Given the description of an element on the screen output the (x, y) to click on. 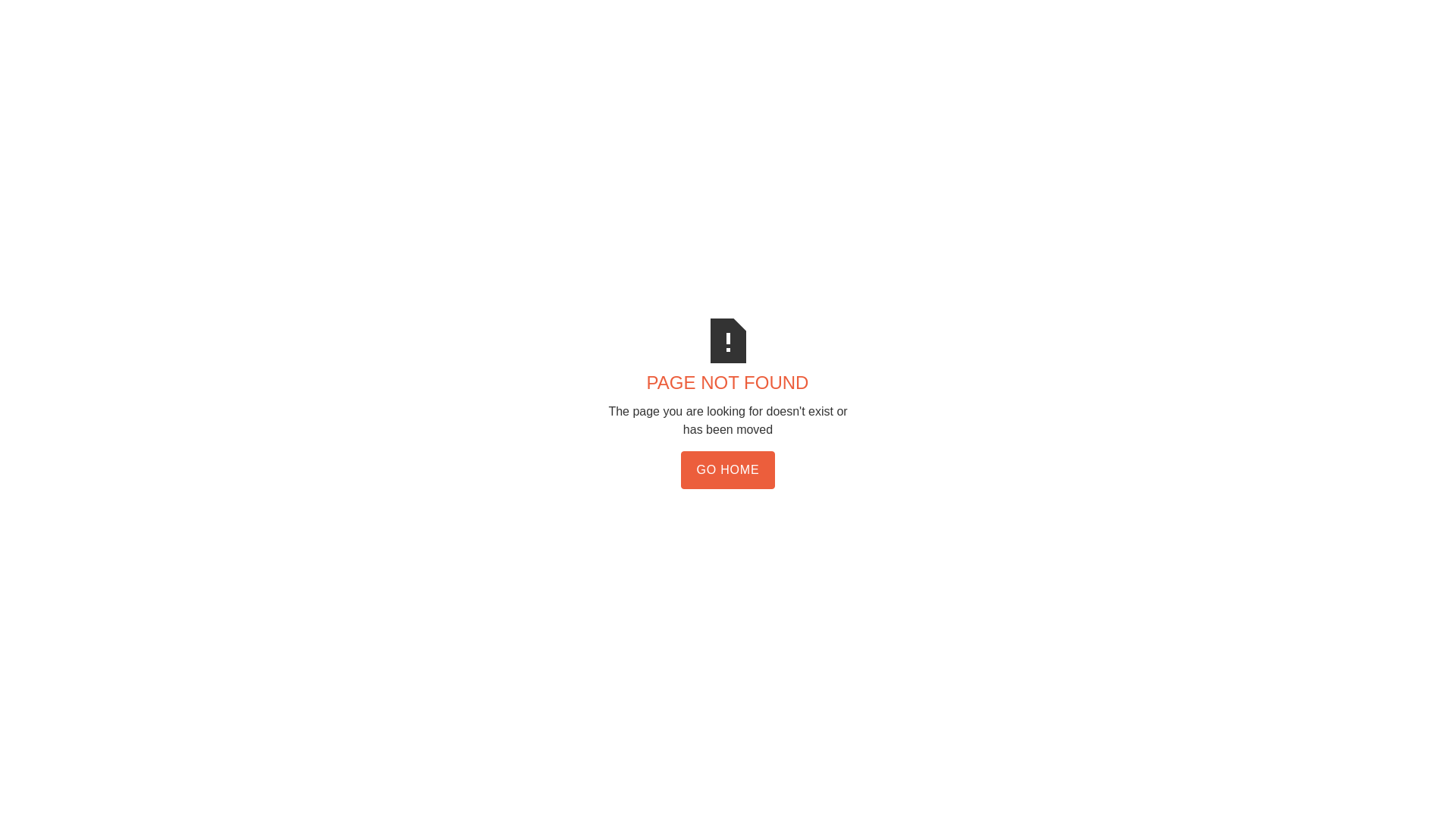
GO HOME Element type: text (727, 470)
